Given the description of an element on the screen output the (x, y) to click on. 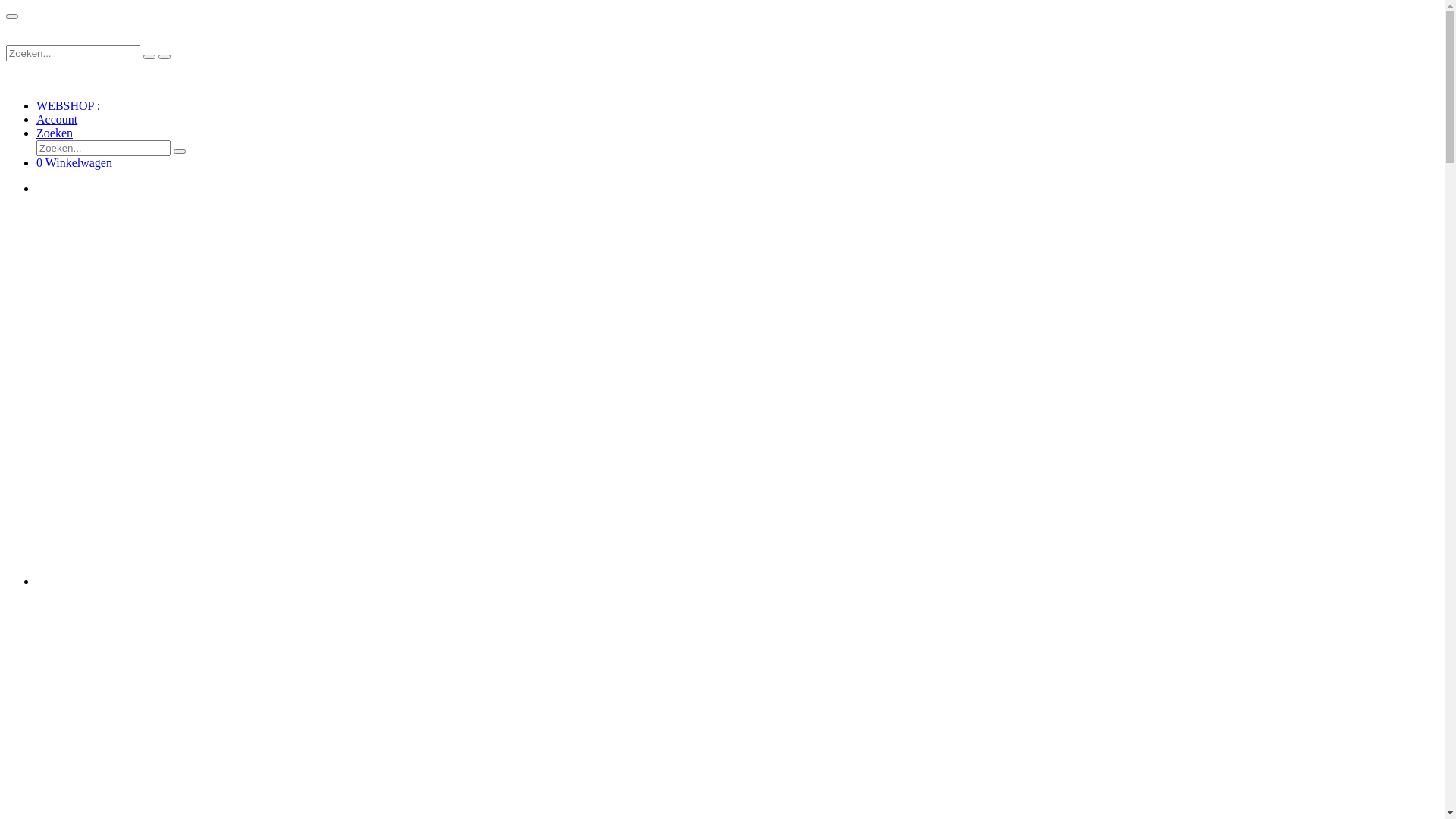
WEBSHOP : Element type: text (68, 105)
't Bloemenhuisje Element type: text (77, 77)
Account Element type: text (56, 118)
Zoeken Element type: text (54, 132)
0 Winkelwagen Element type: text (74, 162)
't Bloemenhuisje Element type: text (77, 35)
